Given the description of an element on the screen output the (x, y) to click on. 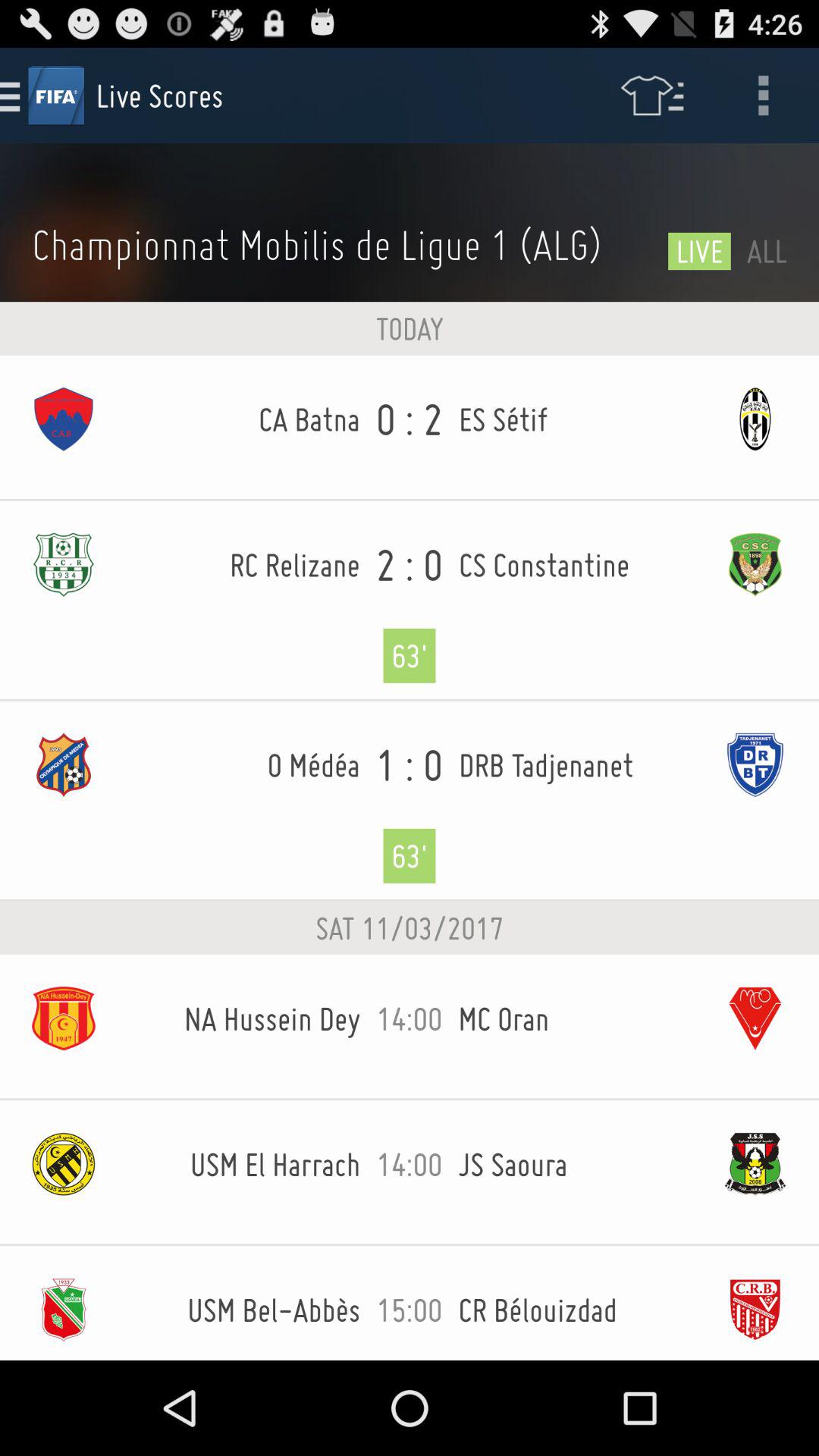
click the item above the sat 11 03 item (409, 801)
